Given the description of an element on the screen output the (x, y) to click on. 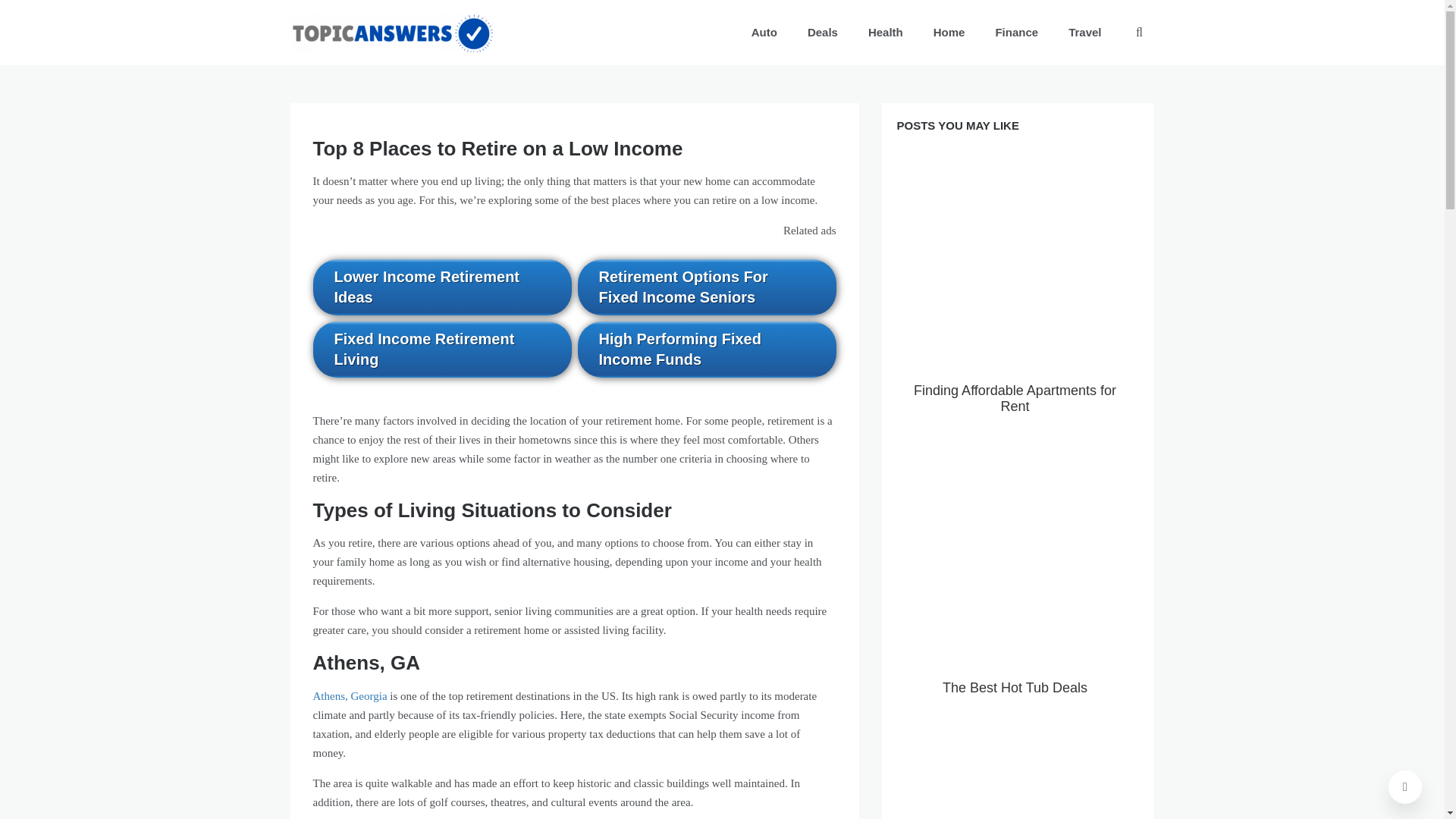
Deals (822, 32)
Health (885, 32)
Topic Answers (366, 65)
Retirement Options For Fixed Income Seniors (706, 287)
High Performing Fixed Income Funds (706, 349)
Home (948, 32)
Finance (1015, 32)
Affordable Apartments for Rent In Your City (1014, 780)
Go to Top (1405, 786)
Lower Income Retirement Ideas (441, 287)
